Given the description of an element on the screen output the (x, y) to click on. 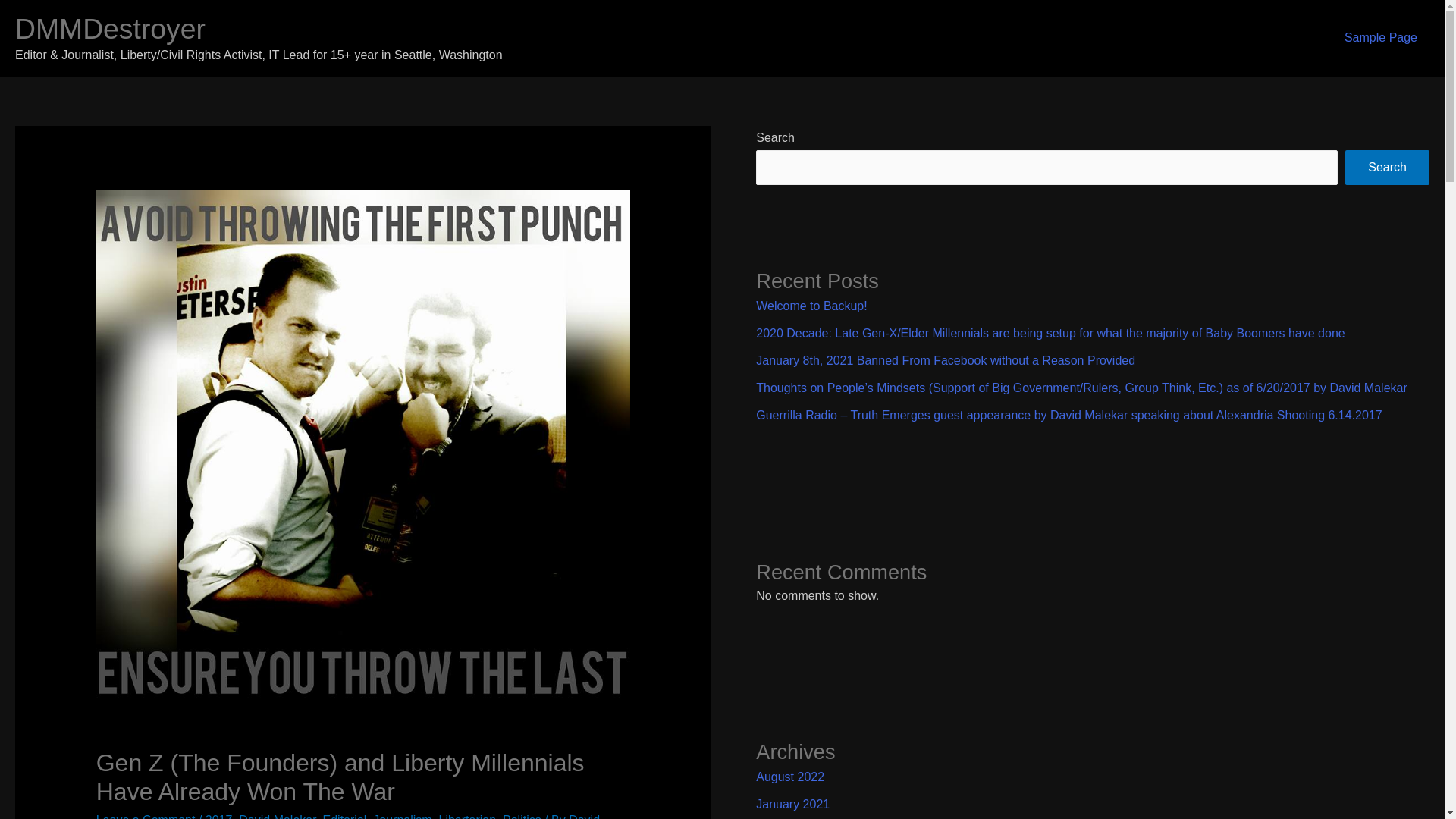
Editorial (344, 816)
David Malekar (276, 816)
Leave a Comment (145, 816)
2017 (218, 816)
Sample Page (1380, 37)
Politics (521, 816)
Journalism (401, 816)
DMMDestroyer (109, 29)
Libertarian (467, 816)
